Given the description of an element on the screen output the (x, y) to click on. 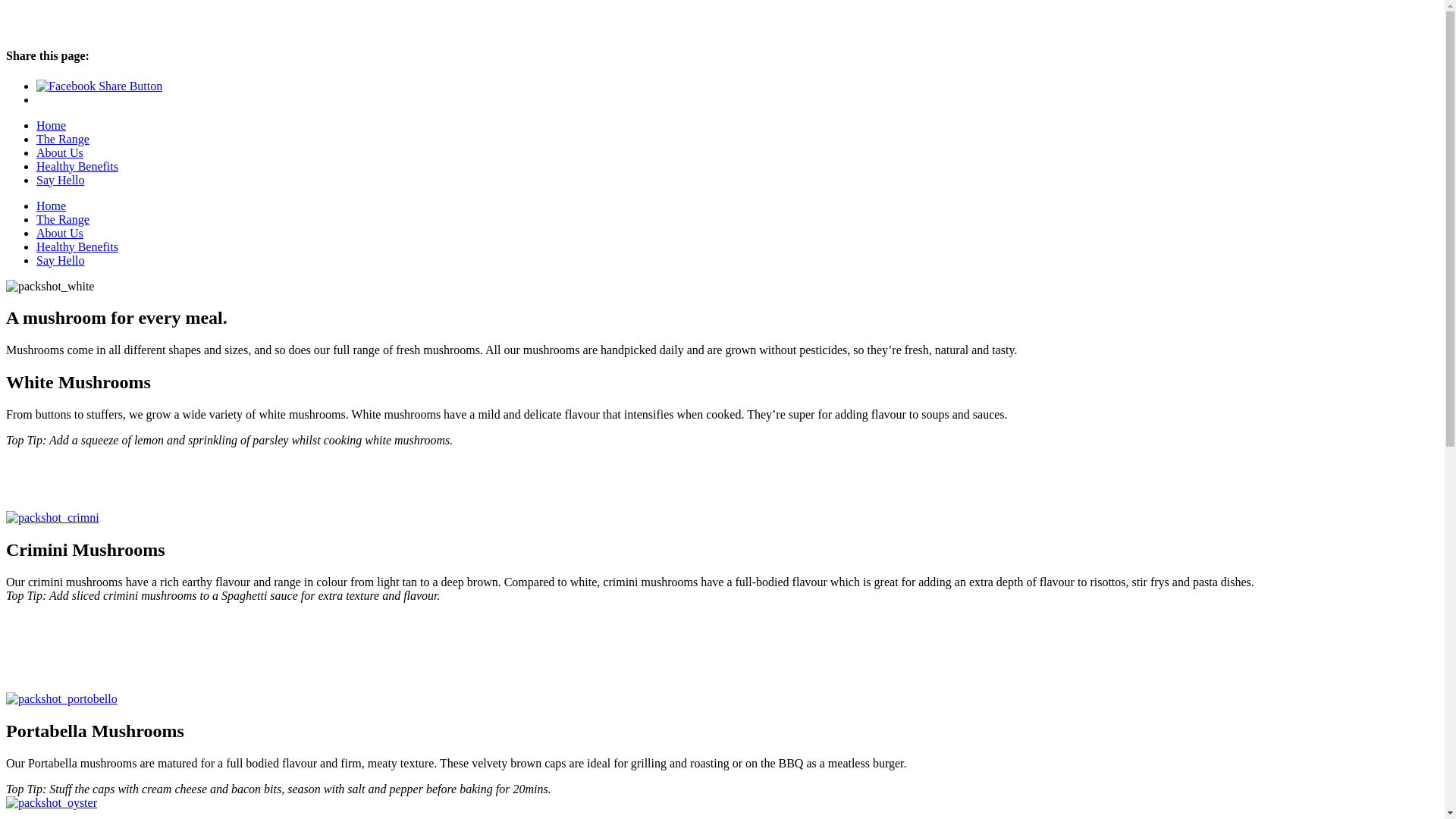
About Us Element type: text (59, 232)
Say Hello Element type: text (60, 260)
About Us Element type: text (59, 152)
The Range Element type: text (62, 219)
The Range Element type: text (62, 138)
Home Element type: text (50, 125)
Healthy Benefits Element type: text (77, 166)
Say Hello Element type: text (60, 179)
Healthy Benefits Element type: text (77, 246)
Home Element type: text (50, 205)
